Given the description of an element on the screen output the (x, y) to click on. 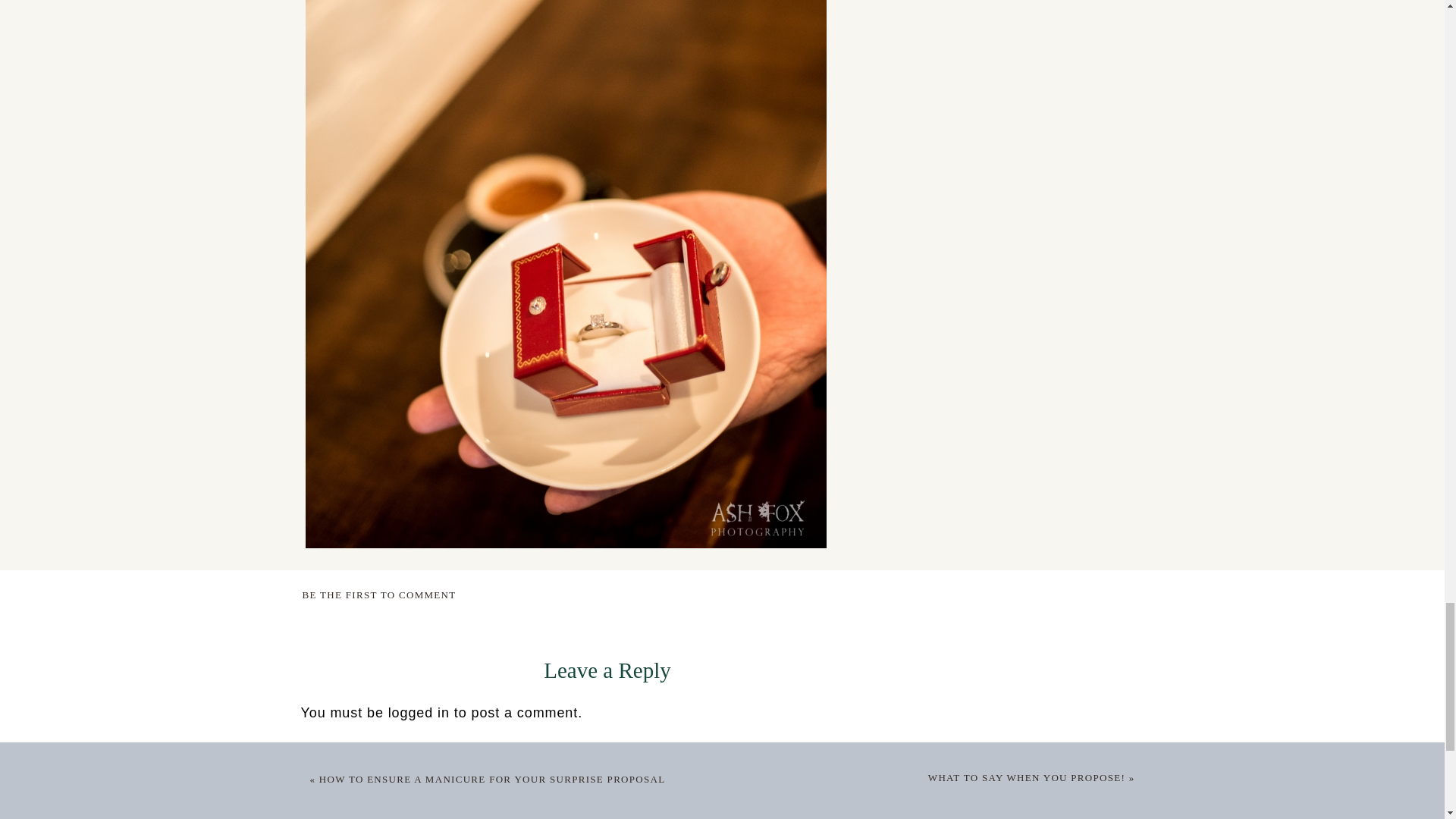
HOW TO ENSURE A MANICURE FOR YOUR SURPRISE PROPOSAL (491, 778)
BE THE FIRST TO COMMENT (378, 594)
logged in (418, 712)
WHAT TO SAY WHEN YOU PROPOSE! (1026, 777)
